Given the description of an element on the screen output the (x, y) to click on. 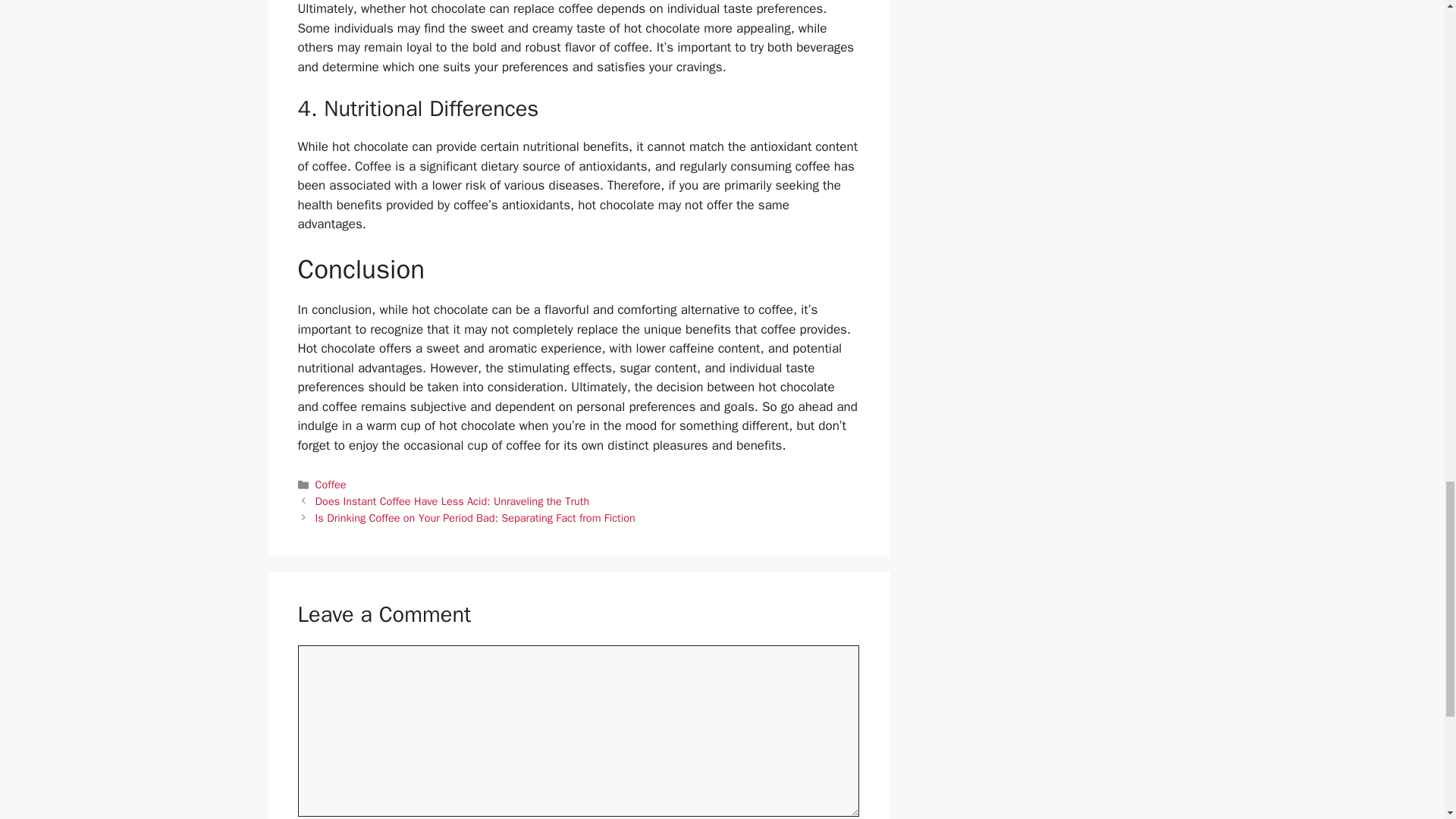
Does Instant Coffee Have Less Acid: Unraveling the Truth (452, 500)
Coffee (330, 484)
